Given the description of an element on the screen output the (x, y) to click on. 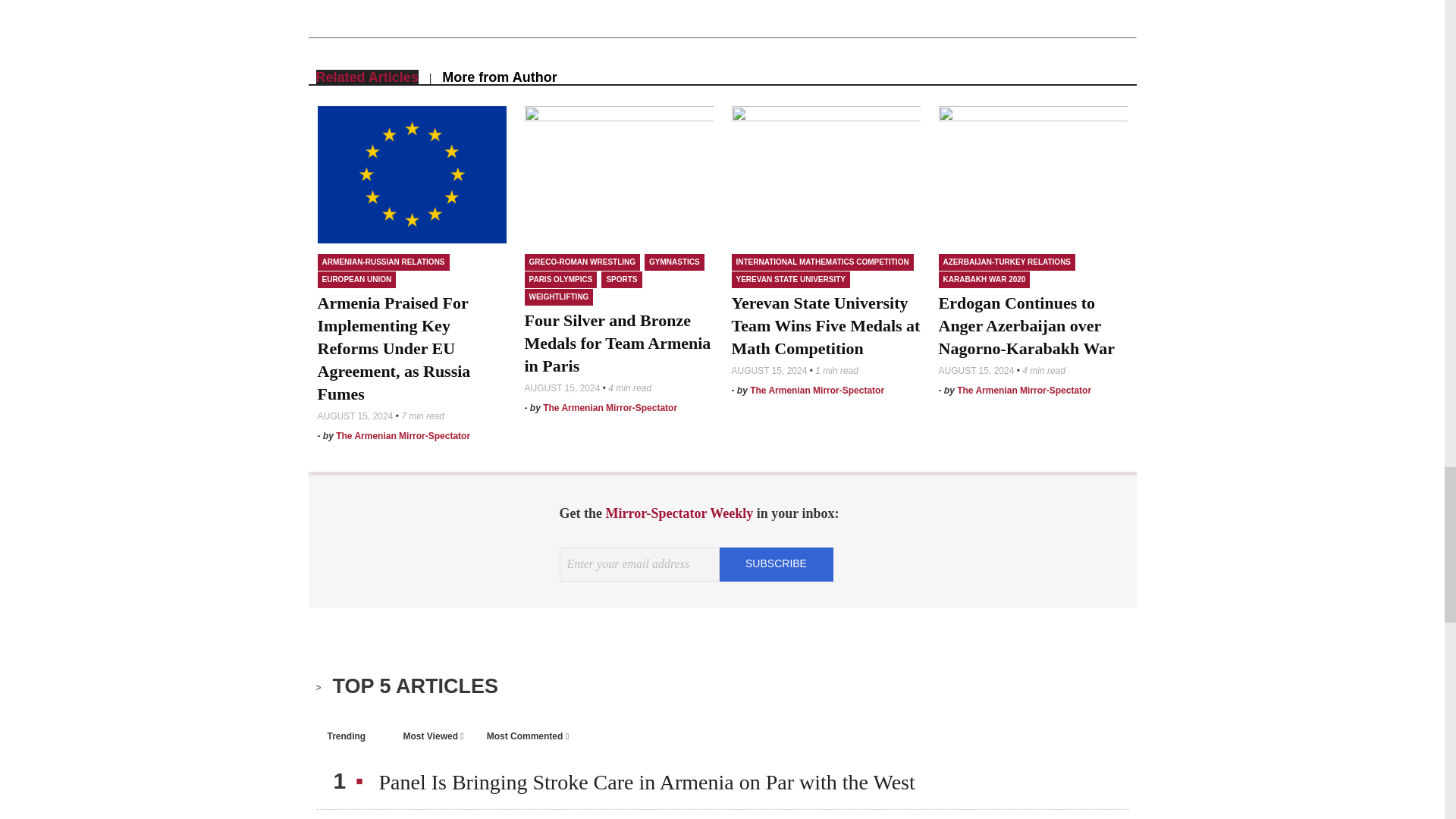
Four Silver and Bronze Medals for Team Armenia in Paris (617, 343)
Four Silver and Bronze Medals for Team Armenia in Paris (618, 174)
SUBSCRIBE (775, 563)
